Given the description of an element on the screen output the (x, y) to click on. 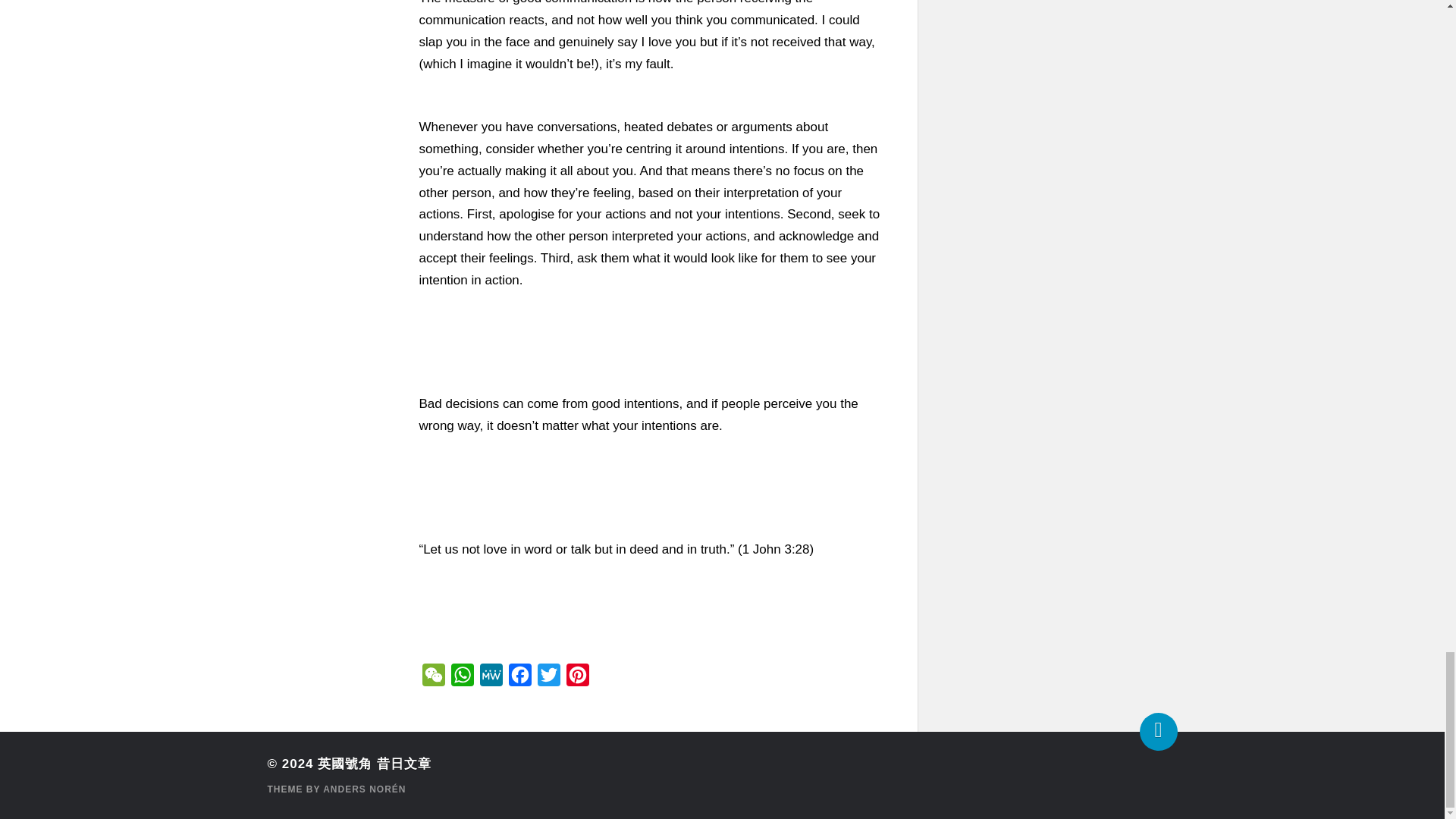
Pinterest (576, 678)
Facebook (519, 678)
Twitter (548, 678)
WhatsApp (461, 678)
MeWe (490, 678)
WeChat (432, 678)
